Given the description of an element on the screen output the (x, y) to click on. 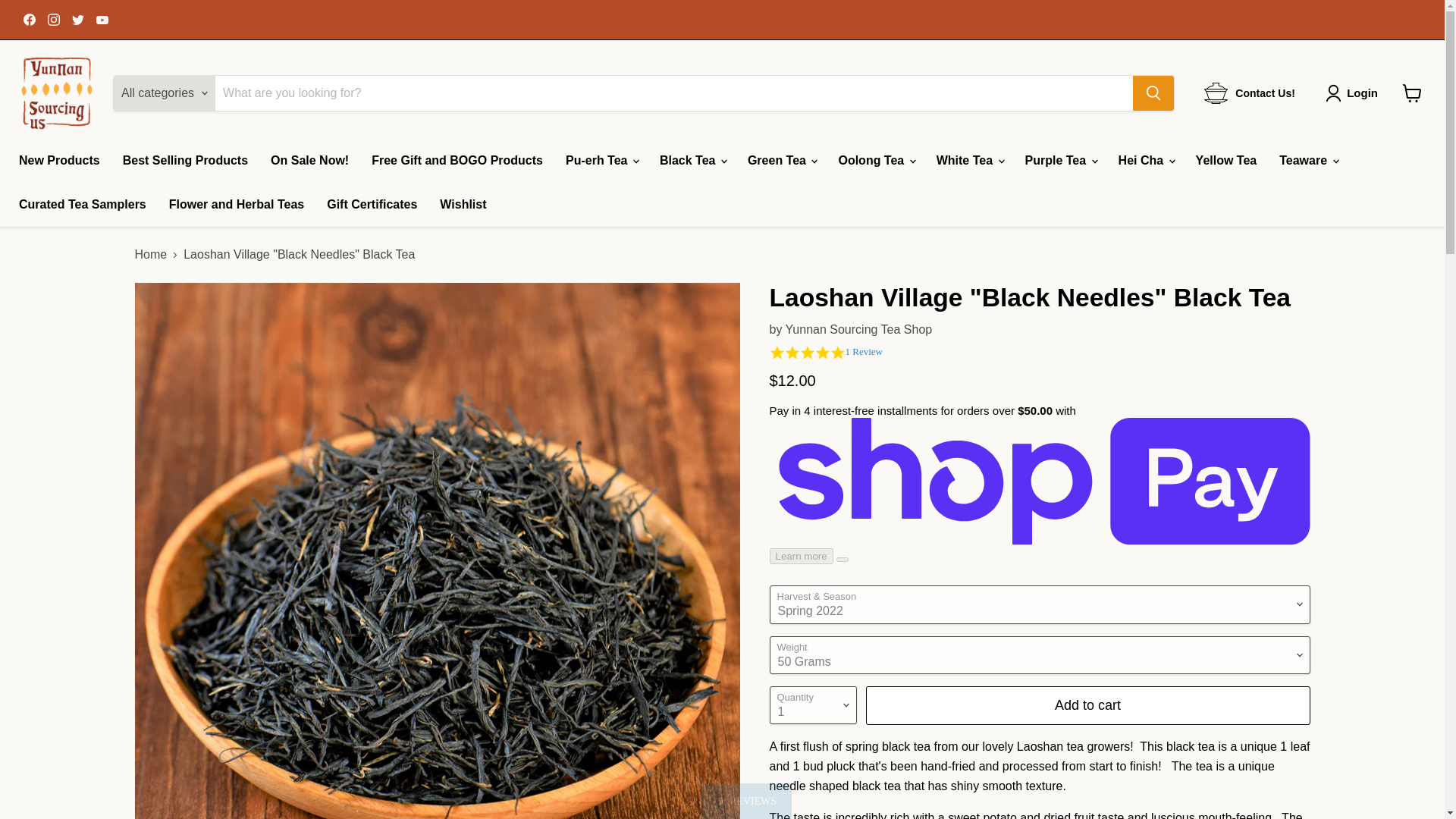
Find us on Twitter (77, 19)
Find us on Facebook (29, 19)
YouTube (102, 19)
Free Gift and BOGO Products (456, 160)
On Sale Now! (309, 160)
Instagram (53, 19)
Login (1362, 93)
Facebook (29, 19)
Find us on YouTube (102, 19)
Twitter (77, 19)
New Products (59, 160)
Find us on Instagram (53, 19)
Contact Us! (1249, 93)
Yunnan Sourcing Tea Shop (859, 328)
View cart (1411, 92)
